Given the description of an element on the screen output the (x, y) to click on. 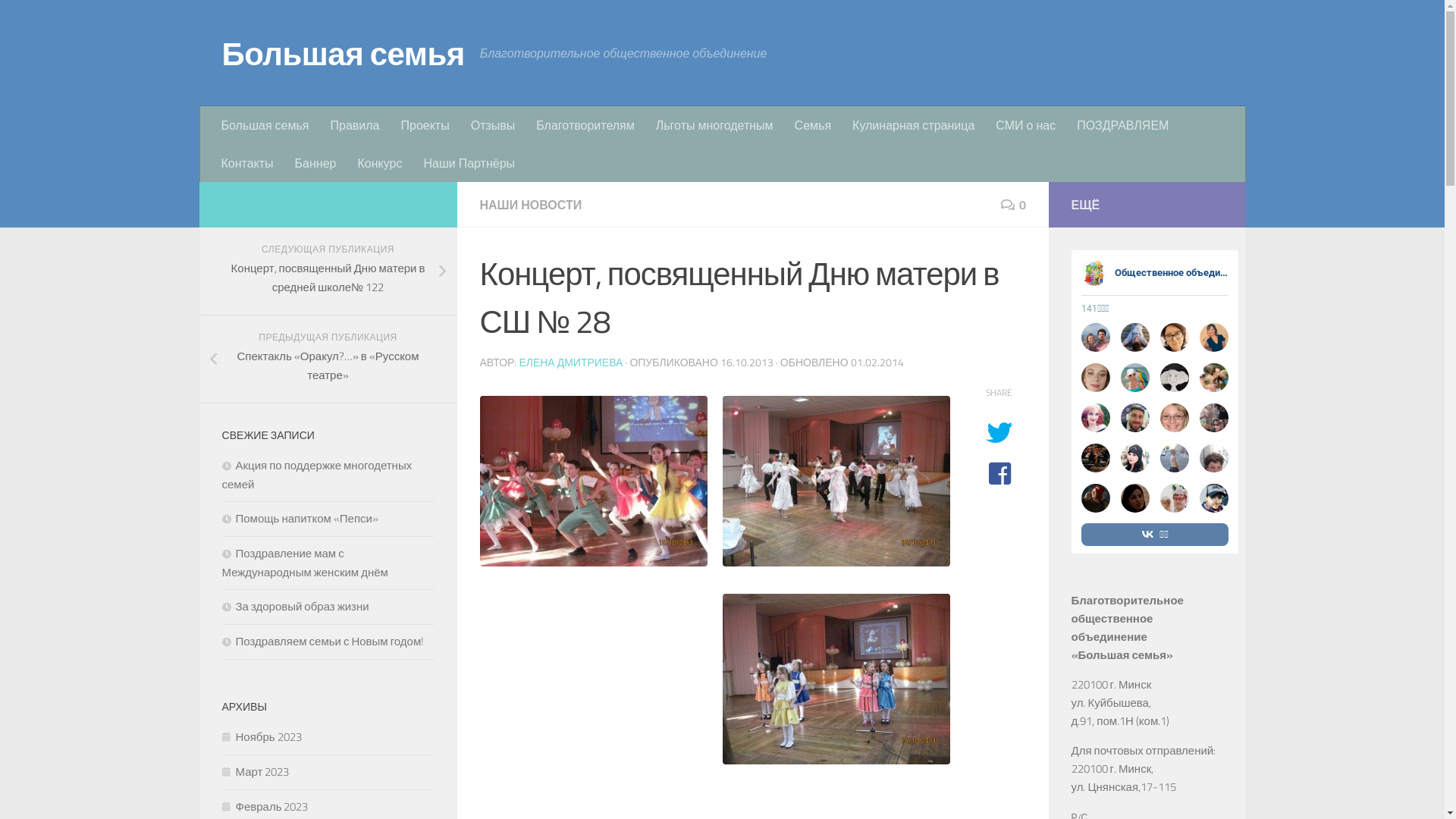
0 Element type: text (1013, 204)
